Given the description of an element on the screen output the (x, y) to click on. 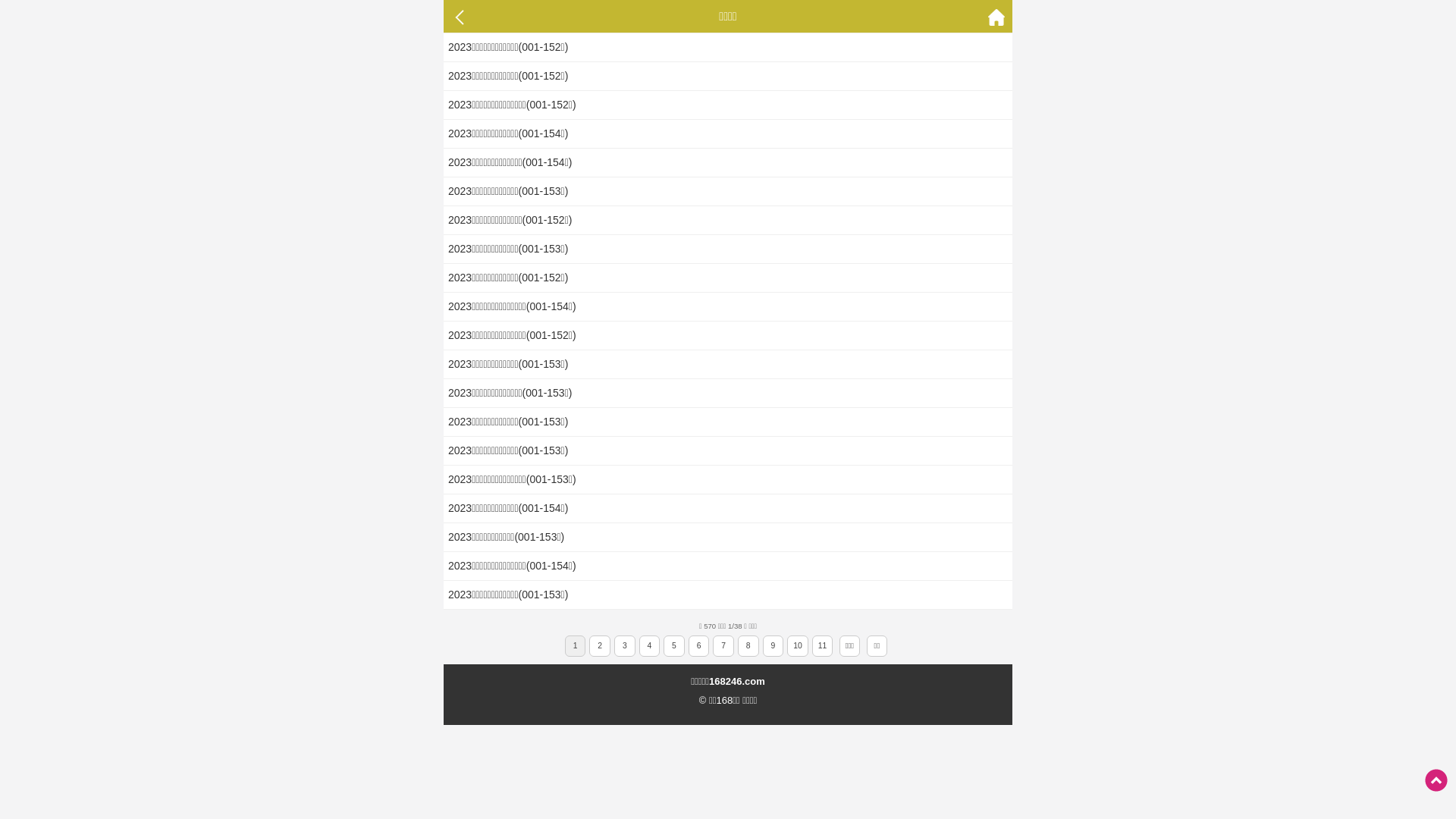
5 Element type: text (673, 646)
11 Element type: text (822, 646)
2 Element type: text (599, 646)
1 Element type: text (575, 646)
10 Element type: text (797, 646)
7 Element type: text (723, 646)
4 Element type: text (648, 646)
3 Element type: text (624, 646)
6 Element type: text (698, 646)
9 Element type: text (772, 646)
8 Element type: text (748, 646)
